Given the description of an element on the screen output the (x, y) to click on. 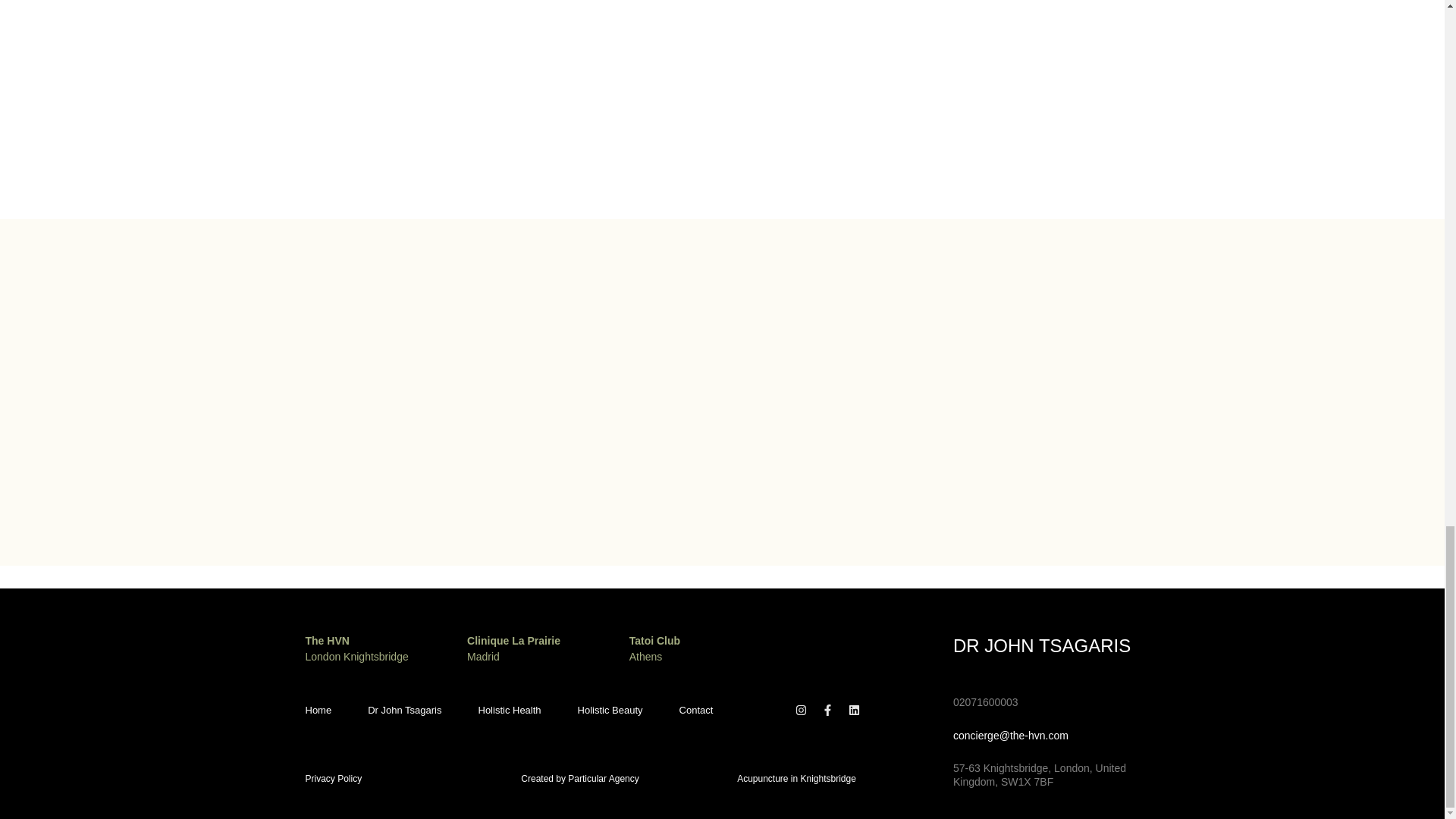
Contact (696, 710)
Created by Particular Agency (580, 778)
Holistic Health (508, 710)
Holistic Beauty (610, 710)
Acupuncture in Knightsbridge (829, 778)
DR JOHN TSAGARIS (1042, 645)
Dr John Tsagaris (404, 710)
Privacy Policy (332, 778)
